Given the description of an element on the screen output the (x, y) to click on. 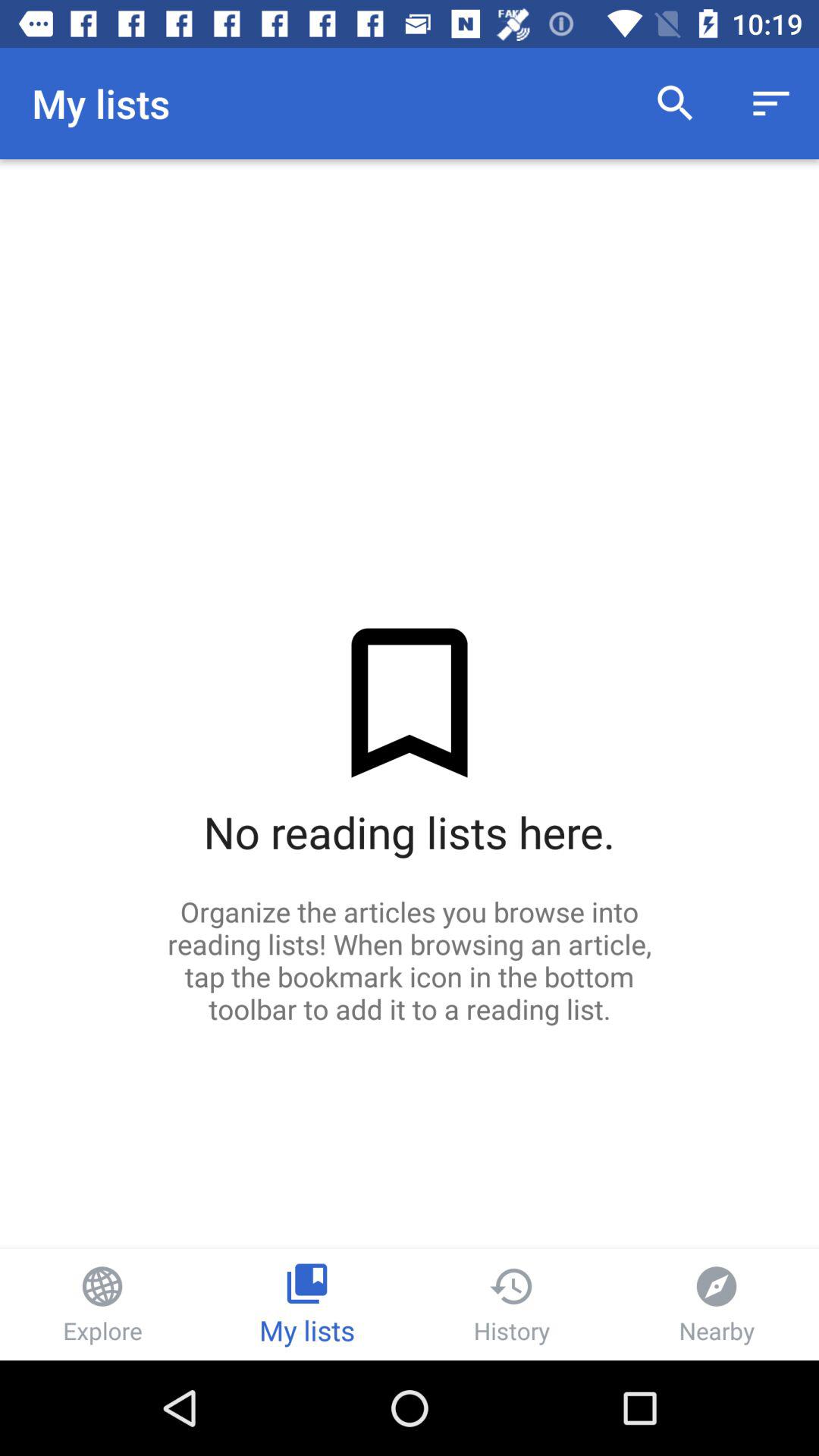
choose the item to the right of the my lists (675, 103)
